Given the description of an element on the screen output the (x, y) to click on. 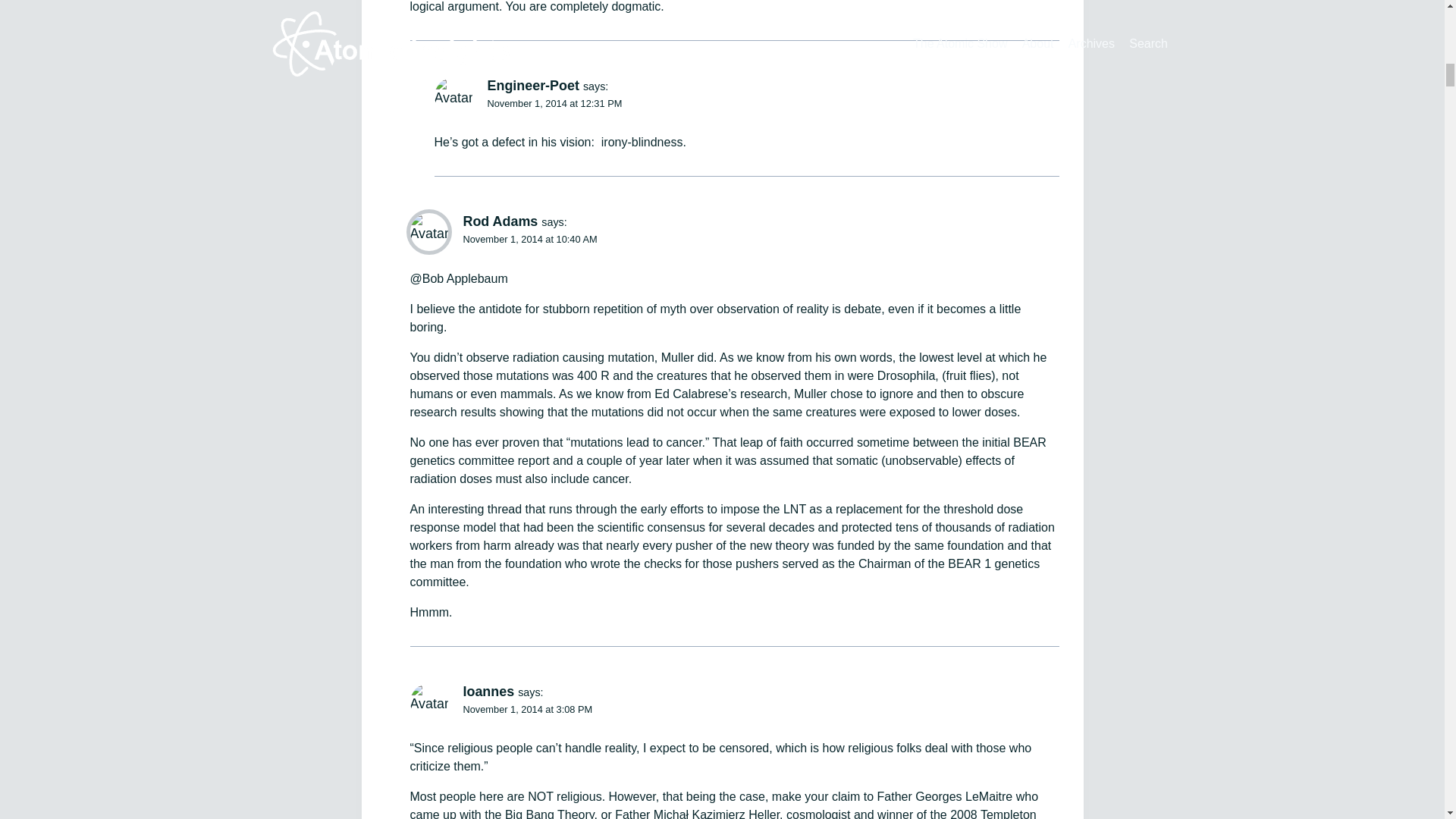
November 1, 2014 at 10:40 AM (529, 238)
November 1, 2014 at 3:08 PM (527, 708)
November 1, 2014 at 12:31 PM (553, 102)
Rod Adams (500, 221)
